Given the description of an element on the screen output the (x, y) to click on. 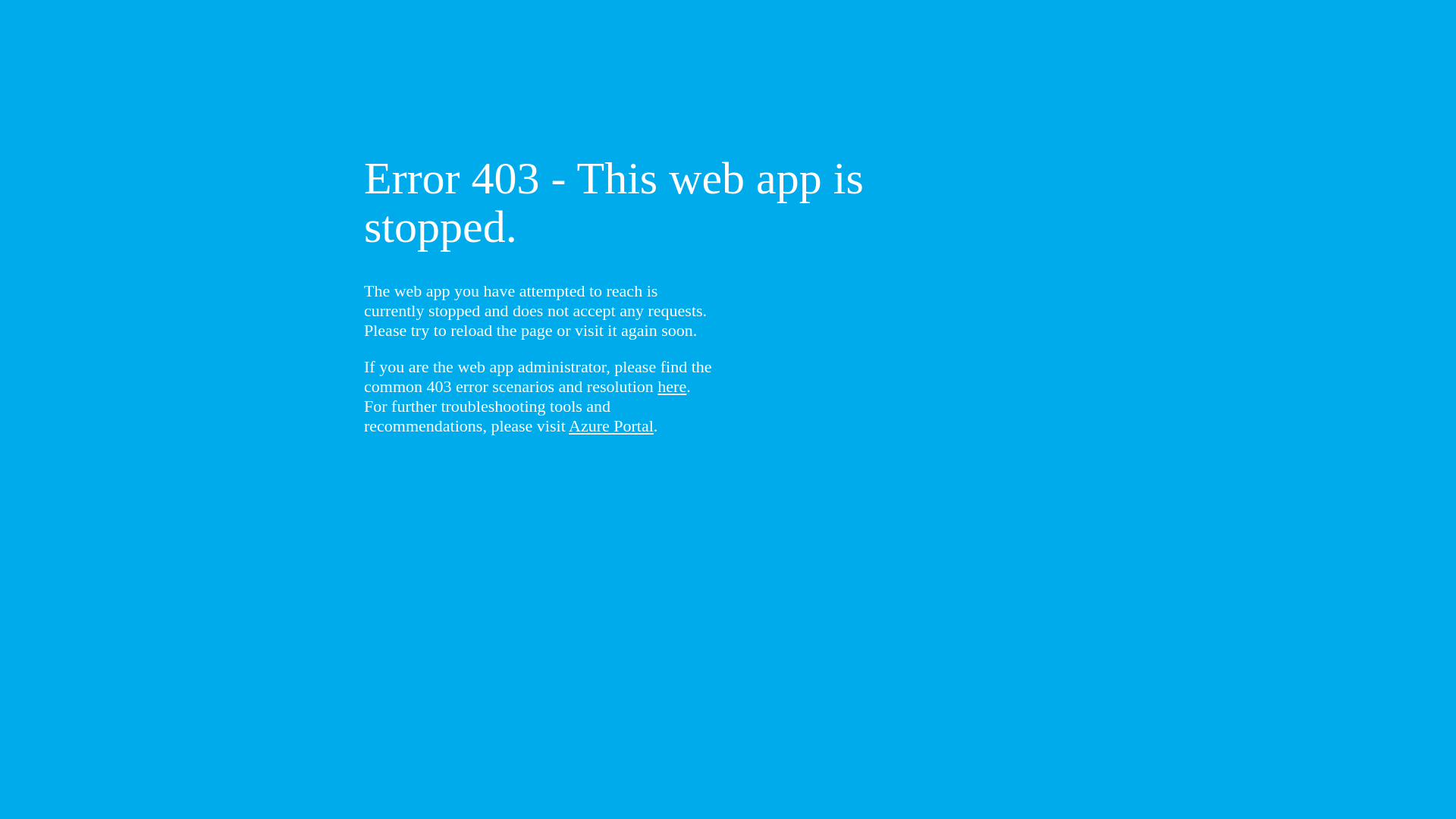
Azure Portal Element type: text (610, 425)
here Element type: text (671, 385)
